Given the description of an element on the screen output the (x, y) to click on. 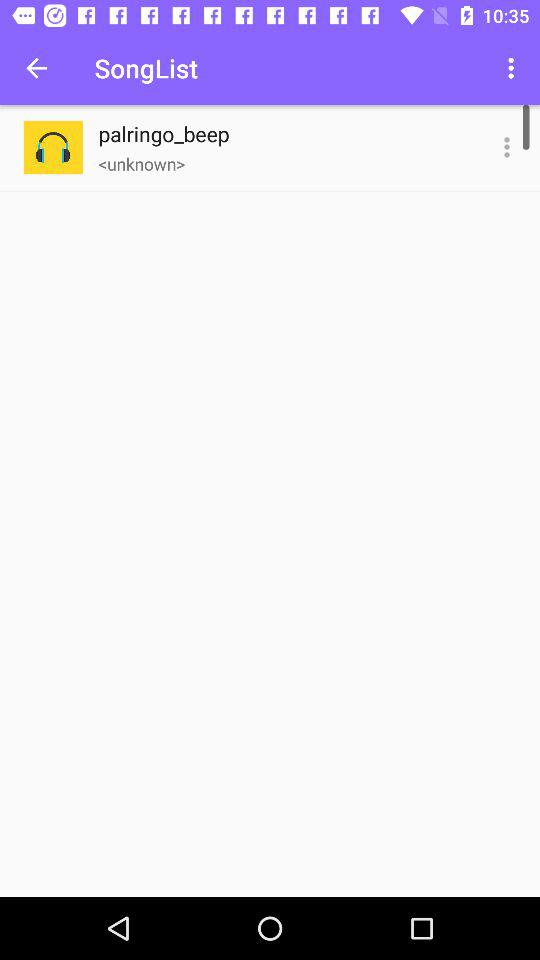
open the icon next to songlist icon (36, 68)
